Given the description of an element on the screen output the (x, y) to click on. 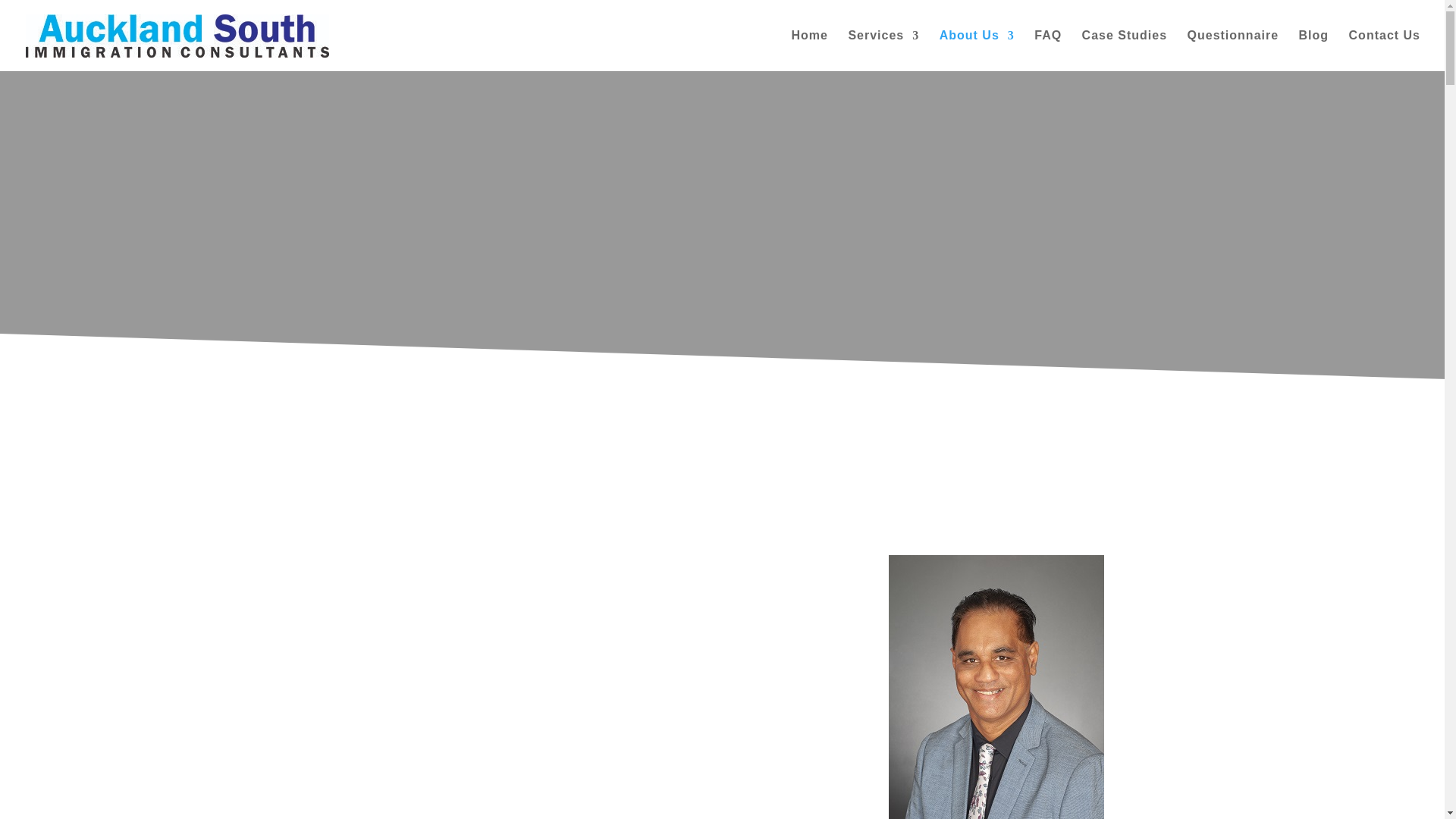
About Us (976, 50)
Home (808, 50)
Services (882, 50)
Contact Us (1385, 50)
Questionnaire (1233, 50)
Case Studies (1124, 50)
